Given the description of an element on the screen output the (x, y) to click on. 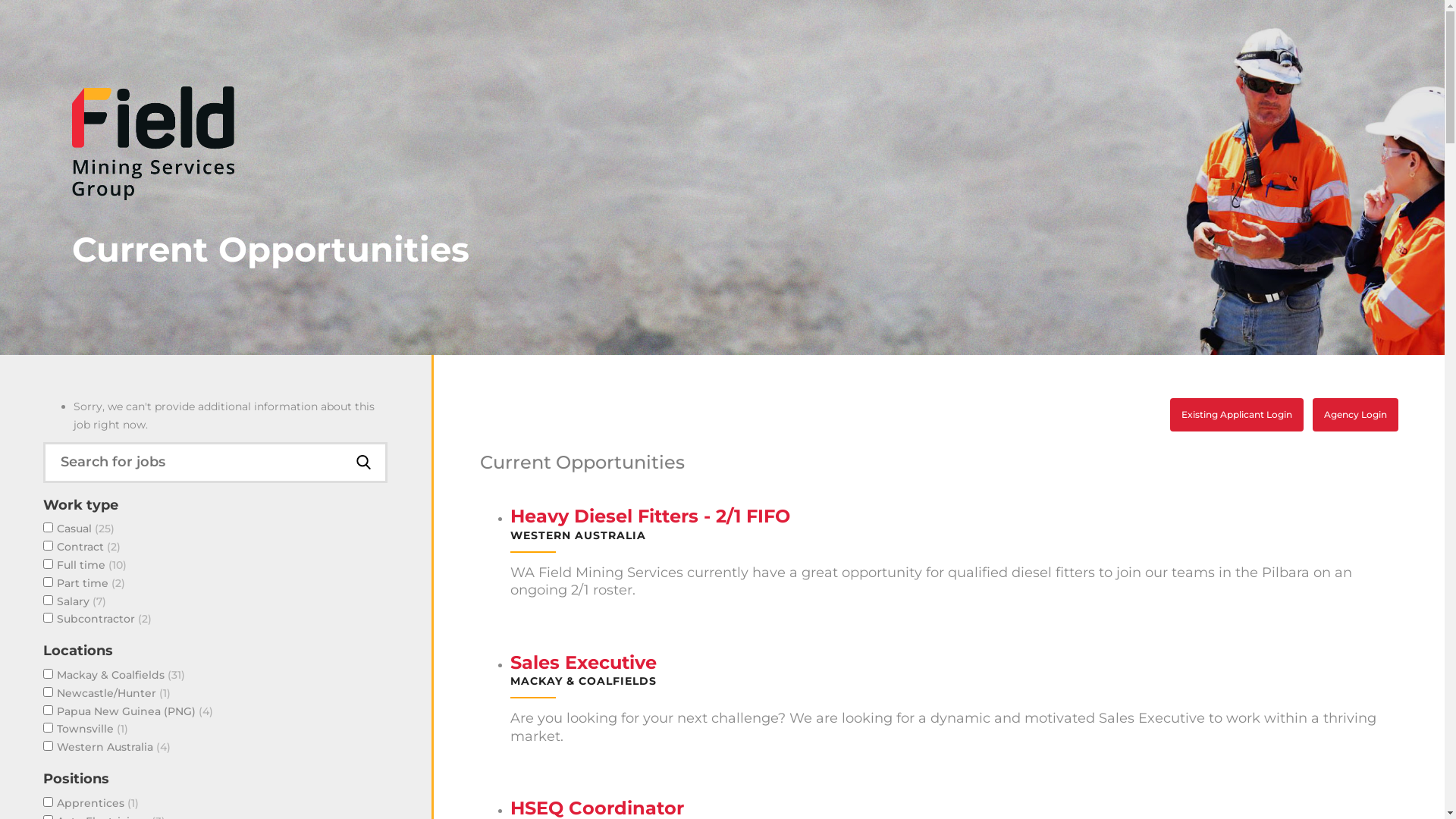
Heavy Diesel Fitters - 2/1 FIFO Element type: text (650, 516)
Existing Applicant Login Element type: text (1236, 414)
Sales Executive Element type: text (583, 662)
Agency Login Element type: text (1355, 414)
